Given the description of an element on the screen output the (x, y) to click on. 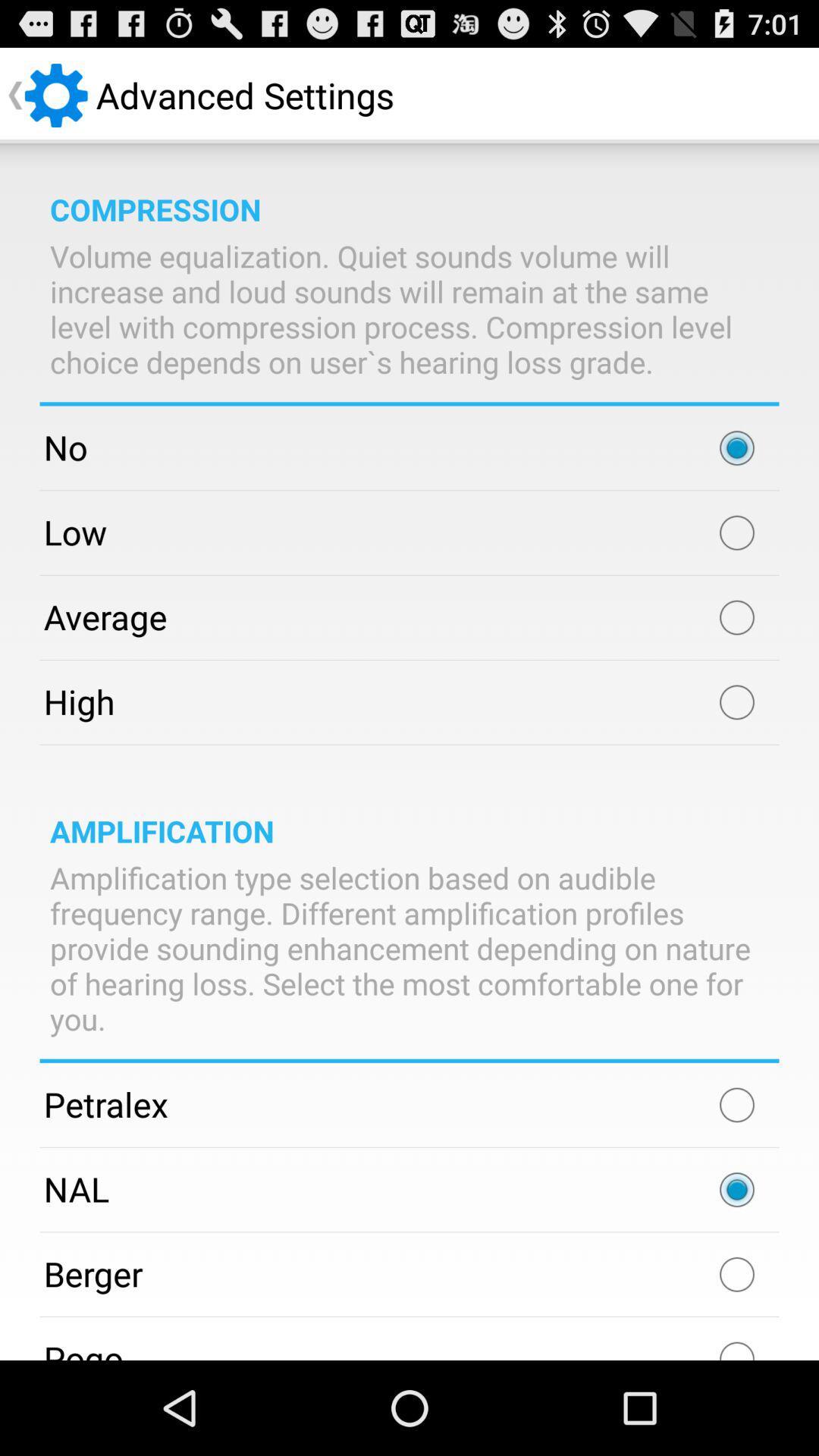
tap app to the right of the berger (736, 1274)
